Given the description of an element on the screen output the (x, y) to click on. 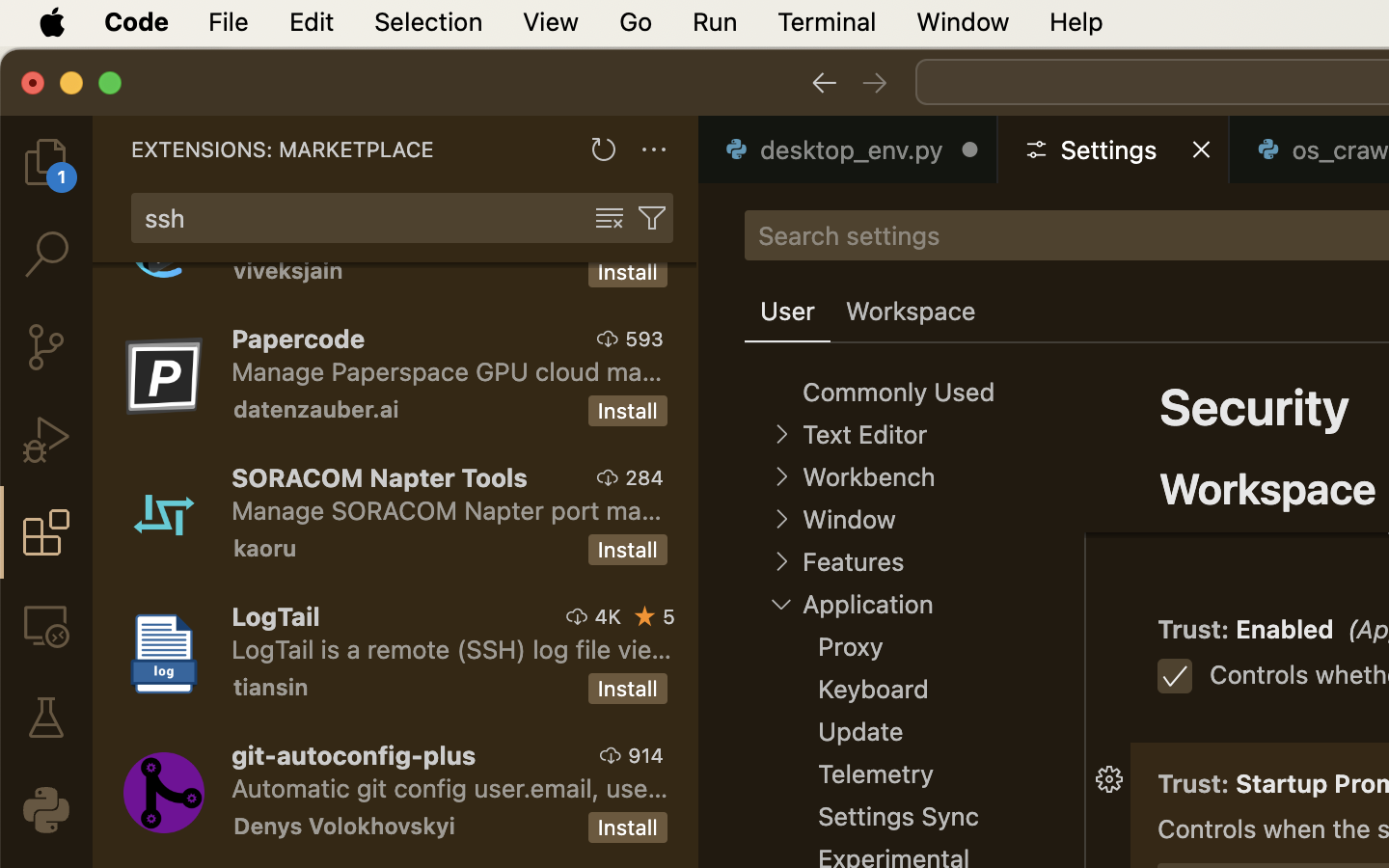
Manage SORACOM Napter port mappings from Visual Studio Code. Element type: AXStaticText (446, 509)
LogTail Element type: AXStaticText (275, 615)
Enabled Element type: AXStaticText (1285, 629)
593 Element type: AXStaticText (644, 338)
0  Element type: AXRadioButton (46, 254)
